Given the description of an element on the screen output the (x, y) to click on. 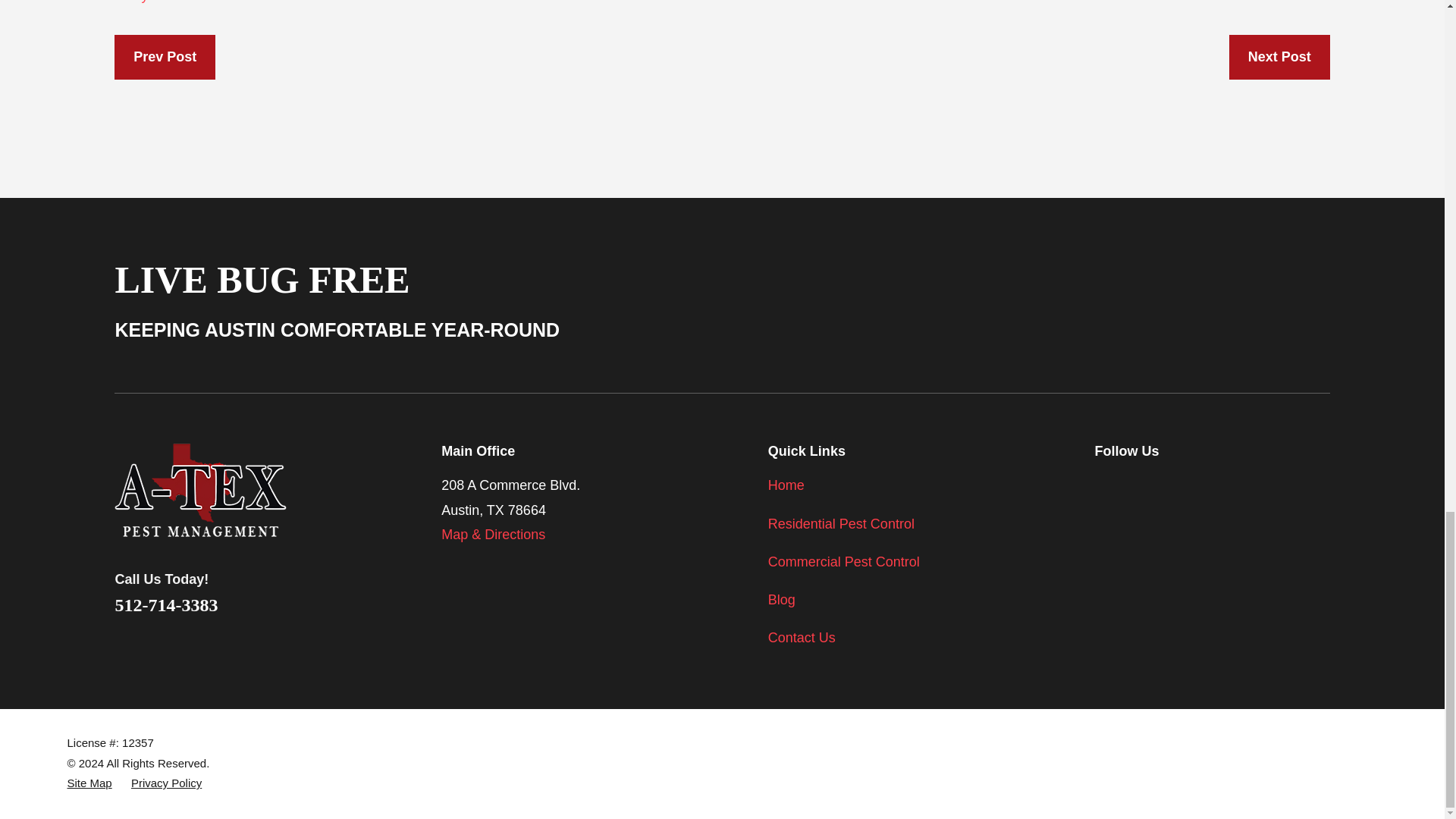
Google Business Profile (1221, 482)
Twitter (1143, 482)
Facebook (1103, 482)
A-Tex Pest Management (200, 490)
Home (224, 490)
Instagram (1182, 482)
